Given the description of an element on the screen output the (x, y) to click on. 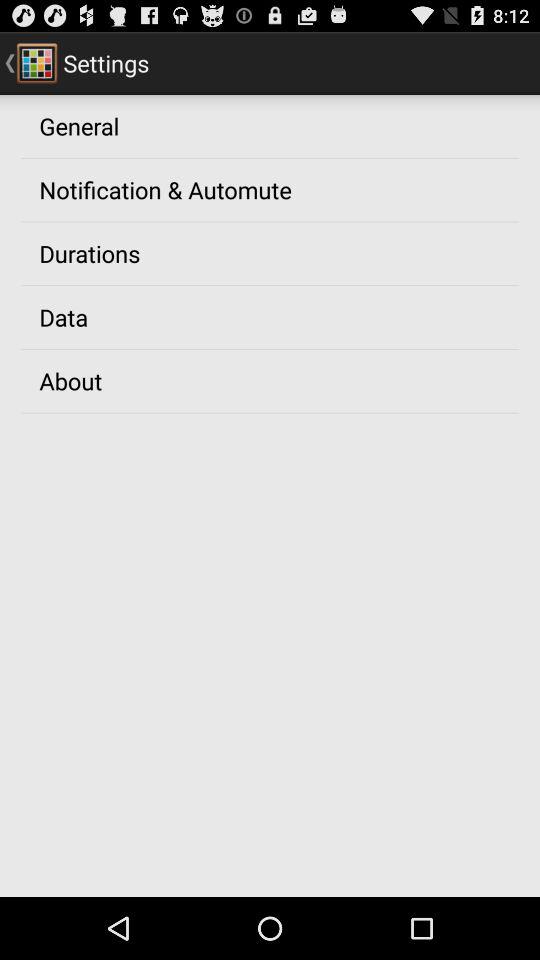
press icon below notification & automute item (89, 253)
